Given the description of an element on the screen output the (x, y) to click on. 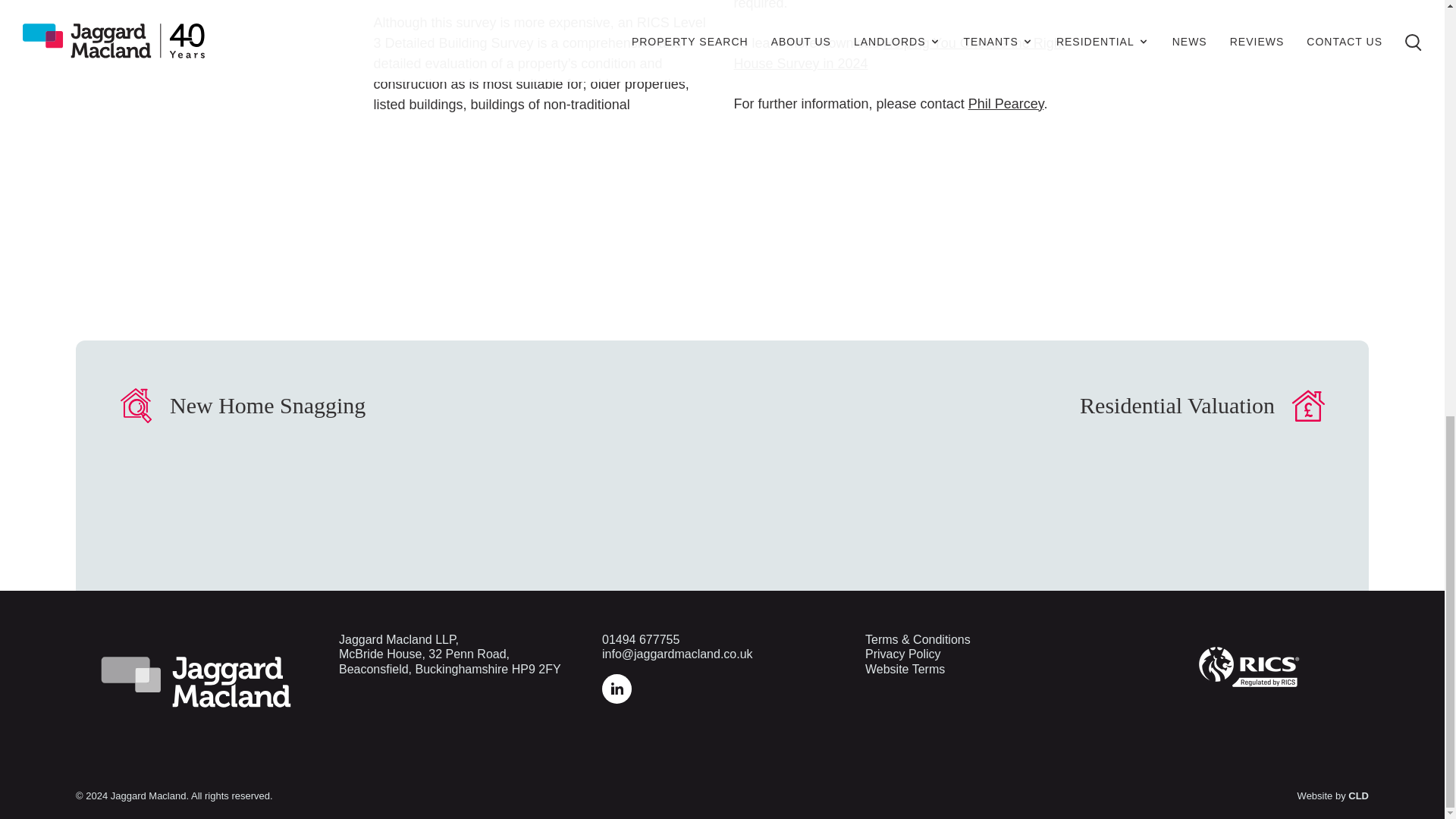
Phil Pearcey (1005, 103)
Helping You Choose the Right House Survey in 2024 (899, 53)
